Given the description of an element on the screen output the (x, y) to click on. 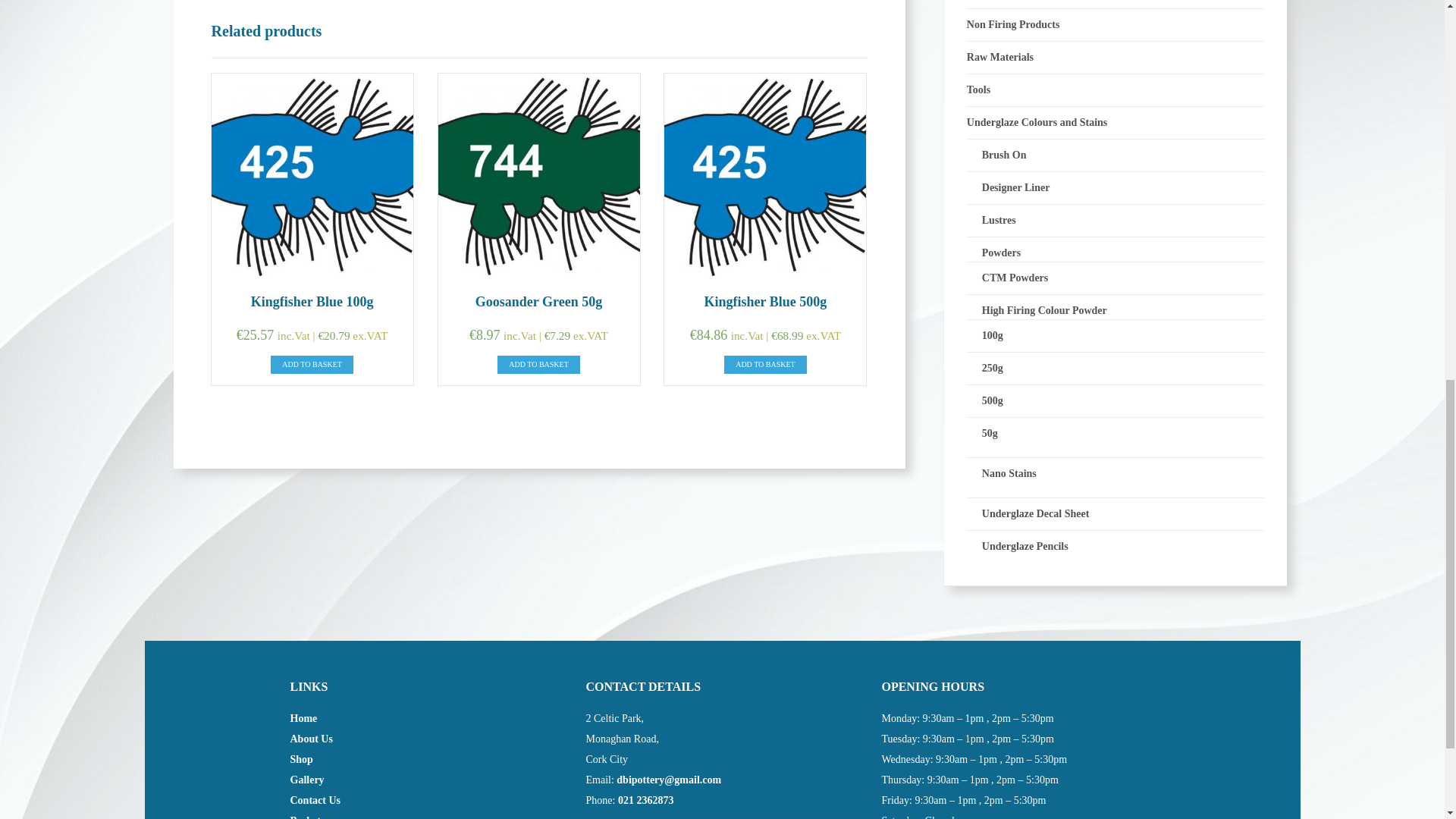
ADD TO BASKET (764, 363)
ADD TO BASKET (538, 363)
ADD TO BASKET (311, 363)
